Given the description of an element on the screen output the (x, y) to click on. 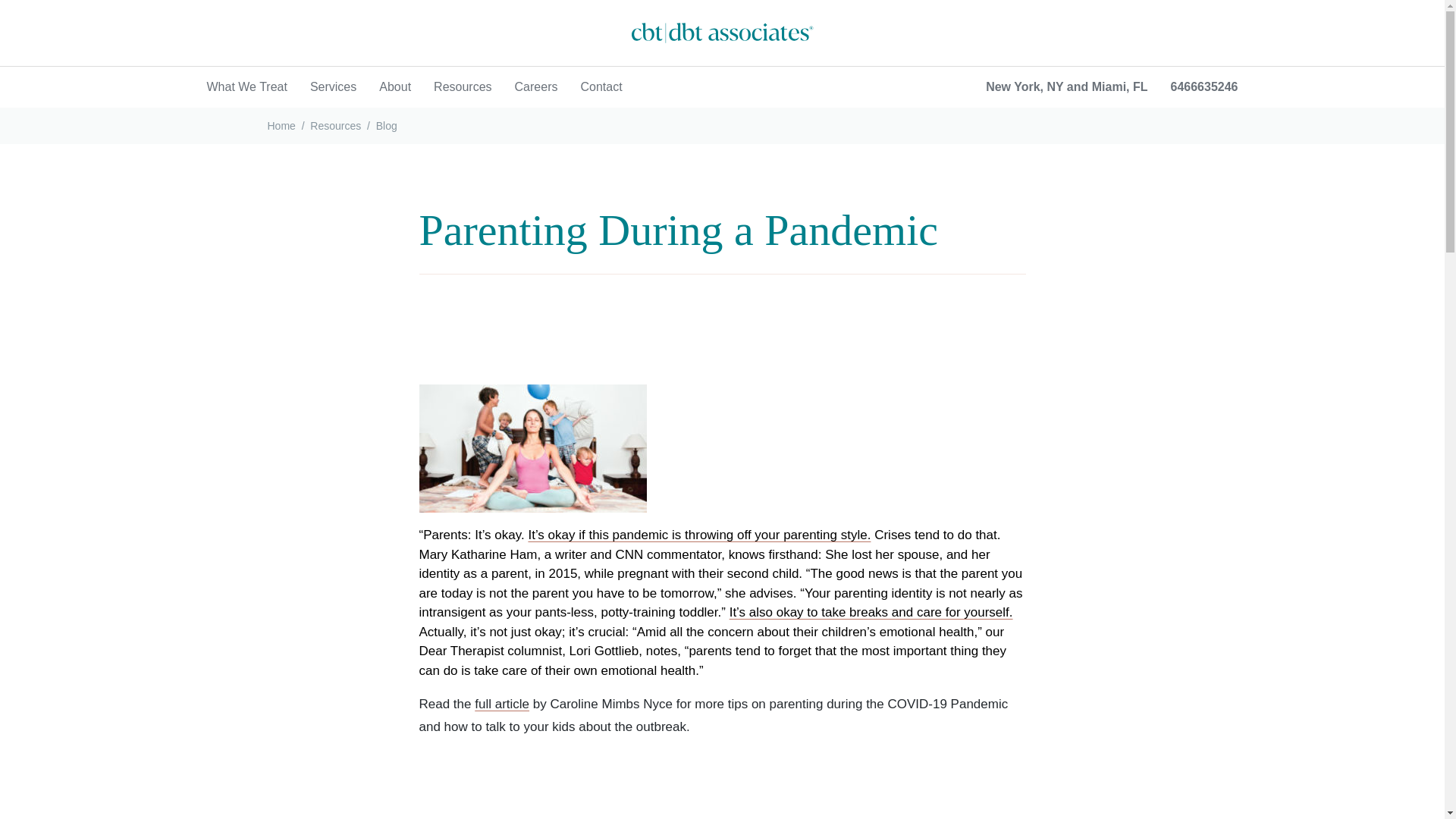
cbt logo (721, 32)
